Given the description of an element on the screen output the (x, y) to click on. 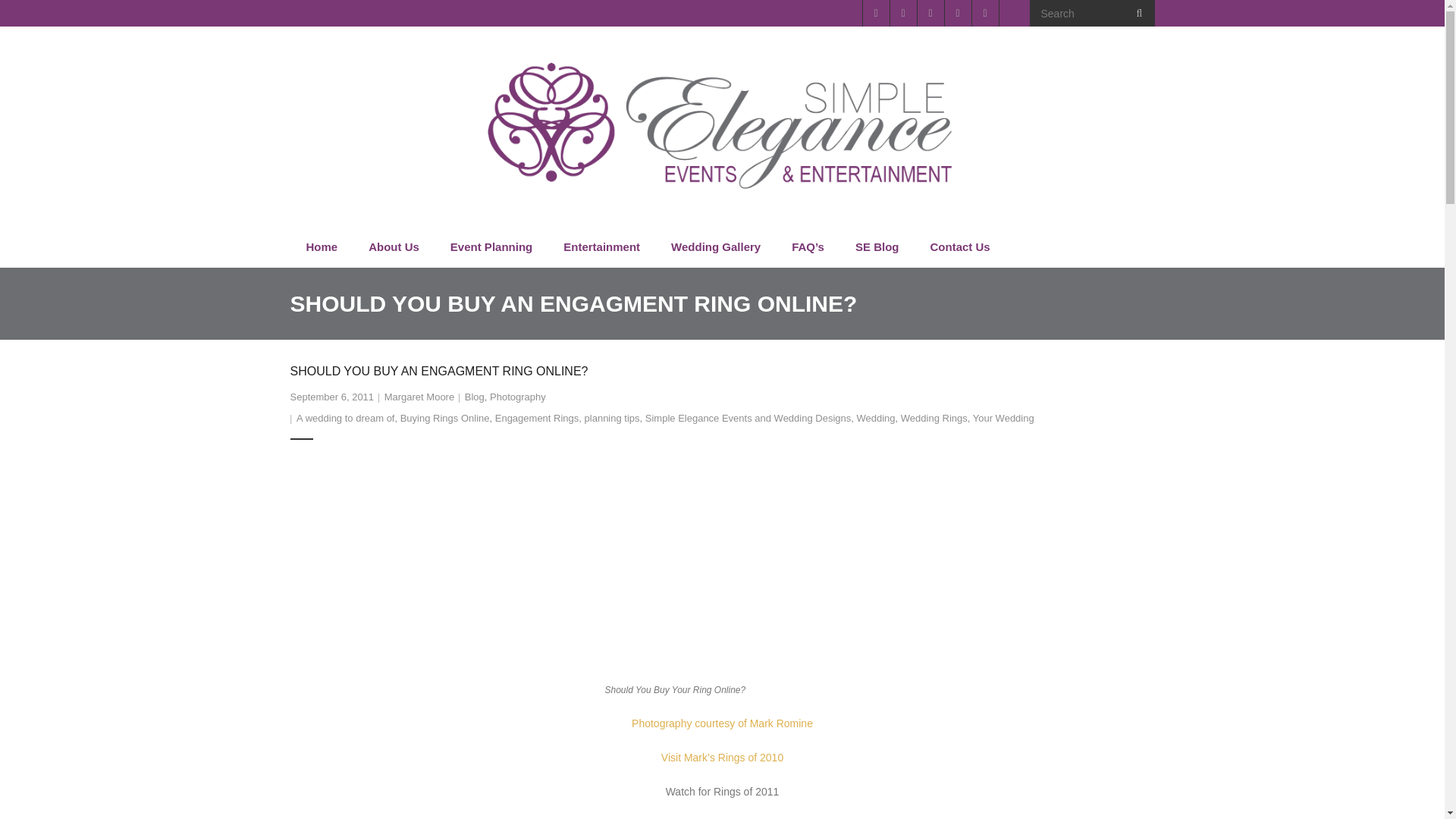
Should You Buy an Engagment Ring Online? (331, 396)
Home (320, 246)
Event Planning (490, 246)
Entertainment (601, 246)
Ring Envy (722, 568)
The Ring (718, 568)
View all posts by Margaret Moore (419, 396)
Search (35, 17)
Mark Romine Weddings (721, 723)
About Us (392, 246)
